Given the description of an element on the screen output the (x, y) to click on. 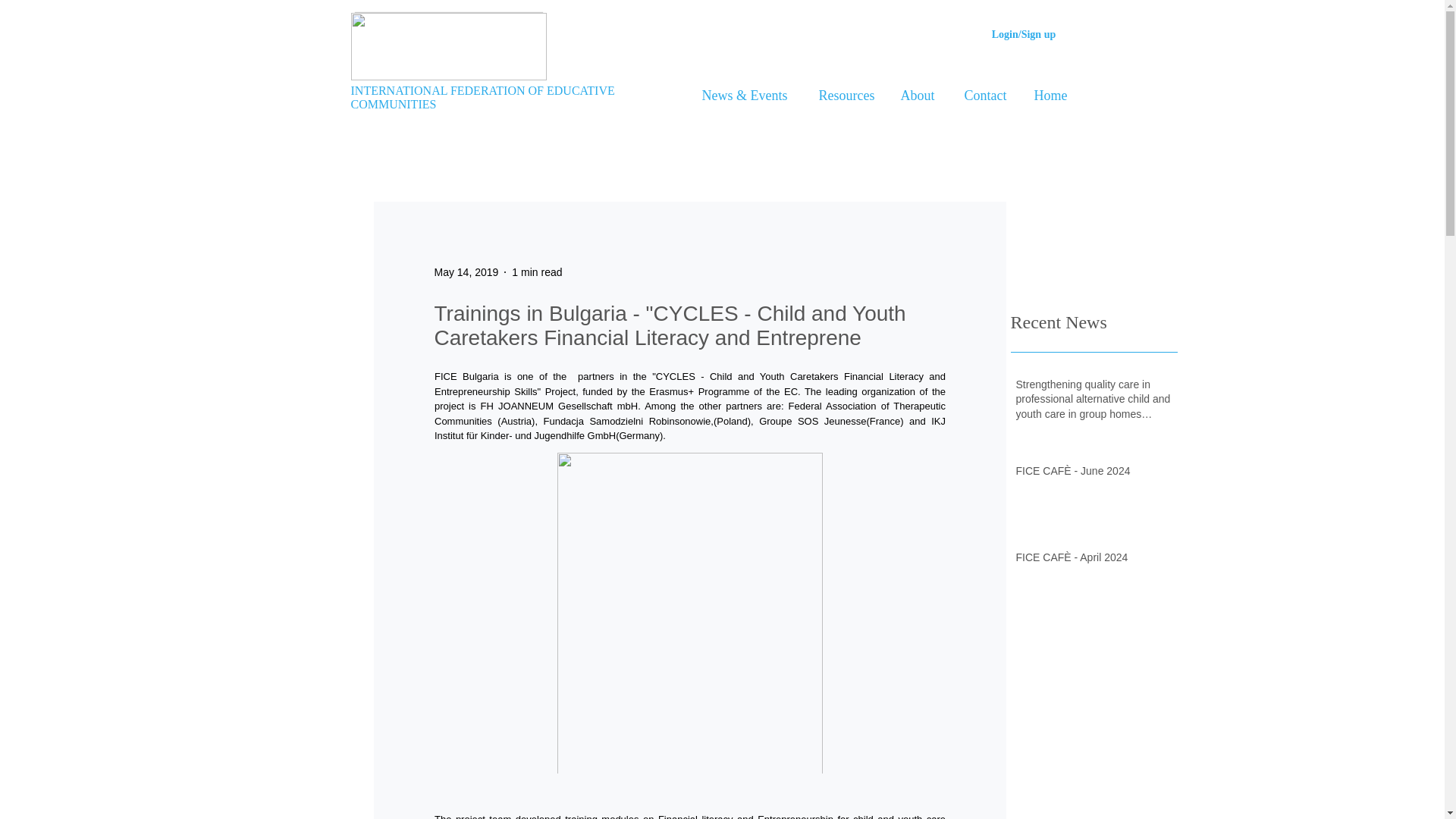
May 14, 2019 (465, 271)
Contact (981, 96)
About (914, 96)
Resources (842, 96)
Home (1047, 96)
1 min read (537, 271)
